Given the description of an element on the screen output the (x, y) to click on. 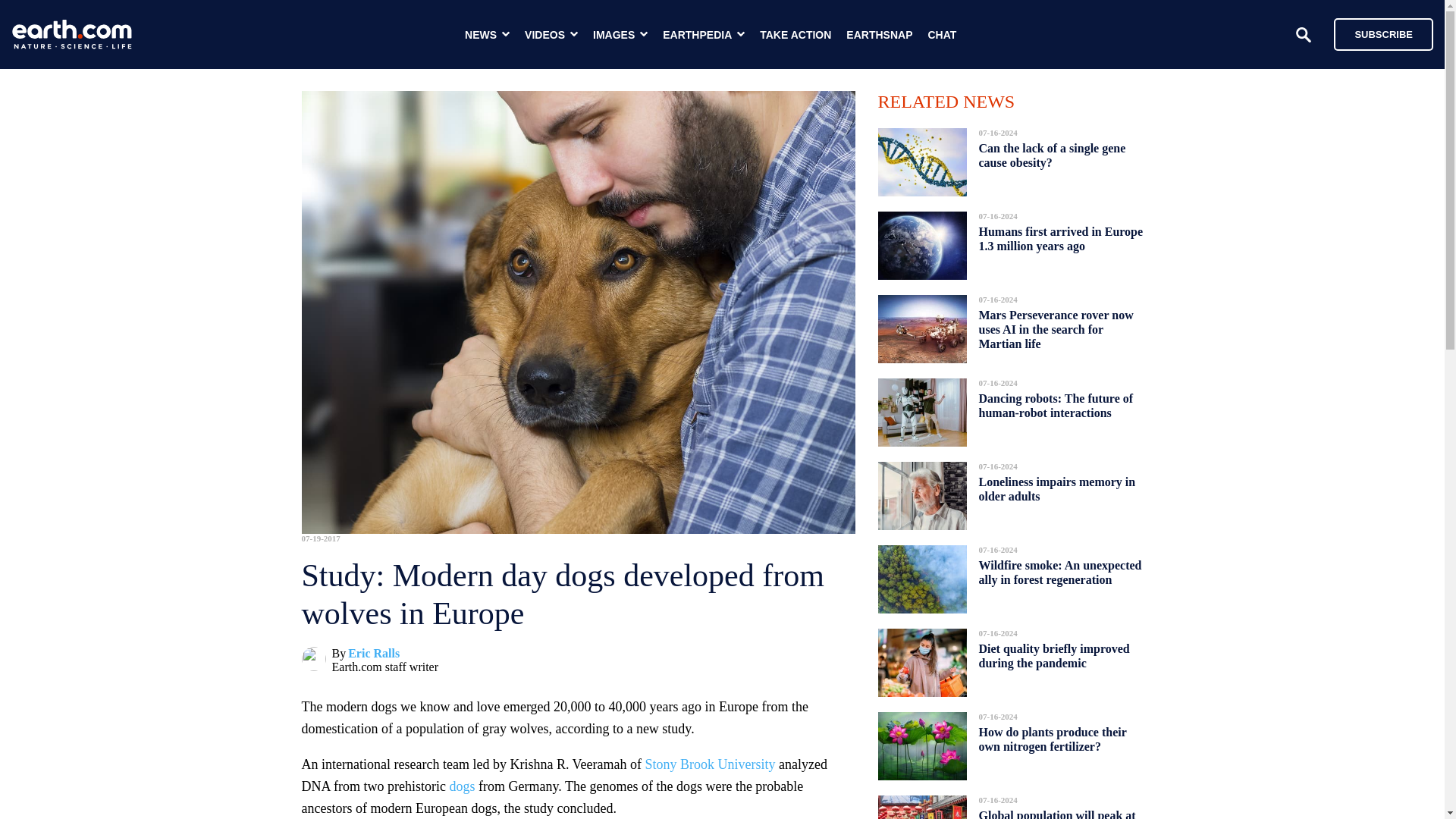
SUBSCRIBE (1375, 33)
Can the lack of a single gene cause obesity? (1051, 155)
Dancing robots: The future of human-robot interactions (1055, 405)
Global population will peak at 10.3 billion by 2085 (1056, 810)
TAKE ACTION (795, 34)
Eric Ralls (372, 653)
CHAT (941, 34)
How do plants produce their own nitrogen fertilizer? (1051, 739)
dogs (461, 785)
EARTHSNAP (878, 34)
Humans first arrived in Europe 1.3 million years ago (1060, 238)
Stony Brook University (710, 764)
Loneliness impairs memory in older adults (1056, 488)
Diet quality briefly improved during the pandemic (1053, 655)
